Given the description of an element on the screen output the (x, y) to click on. 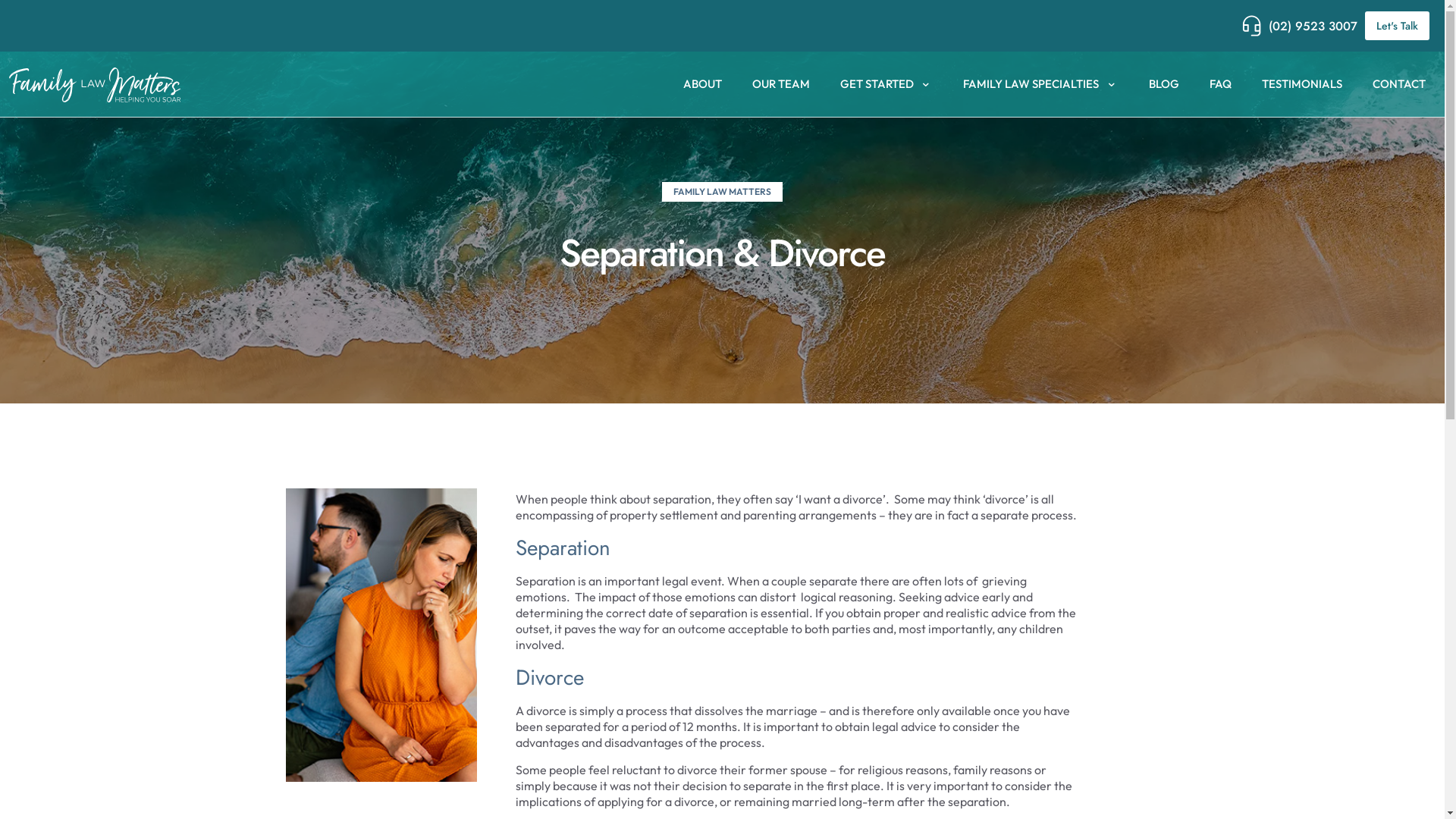
GET STARTED Element type: text (886, 84)
FAMILY LAW SPECIALTIES Element type: text (1040, 84)
BLOG Element type: text (1163, 84)
FAQ Element type: text (1220, 84)
OUR TEAM Element type: text (781, 84)
ABOUT Element type: text (702, 84)
(02) 9523 3007 Element type: text (1299, 25)
CONTACT Element type: text (1398, 84)
Let's Talk Element type: text (1397, 25)
TESTIMONIALS Element type: text (1301, 84)
